Given the description of an element on the screen output the (x, y) to click on. 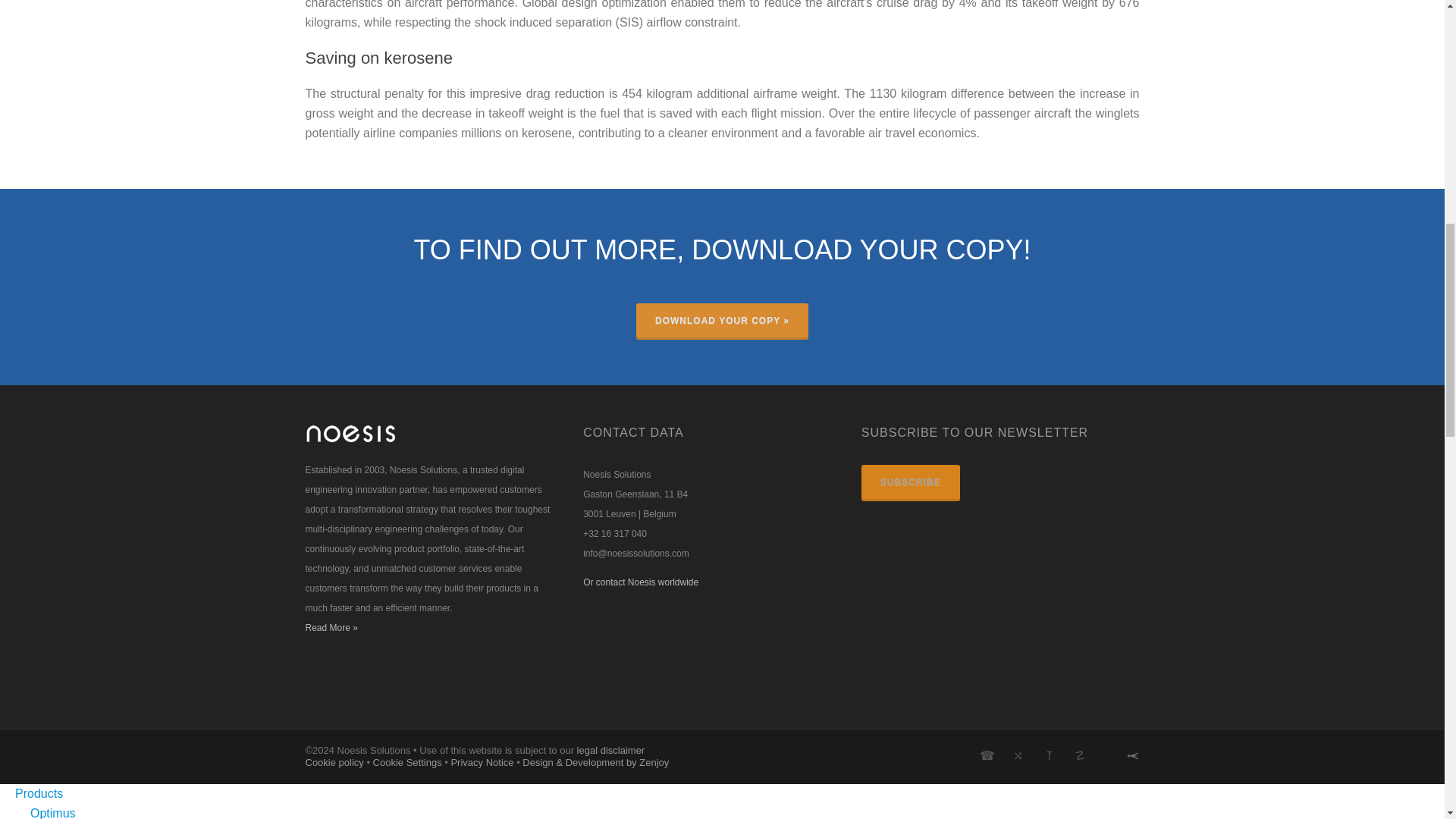
Youtube (1079, 755)
LinkedIn (1047, 755)
Facebook (1018, 755)
RSS (1110, 748)
Twitter (986, 755)
